Given the description of an element on the screen output the (x, y) to click on. 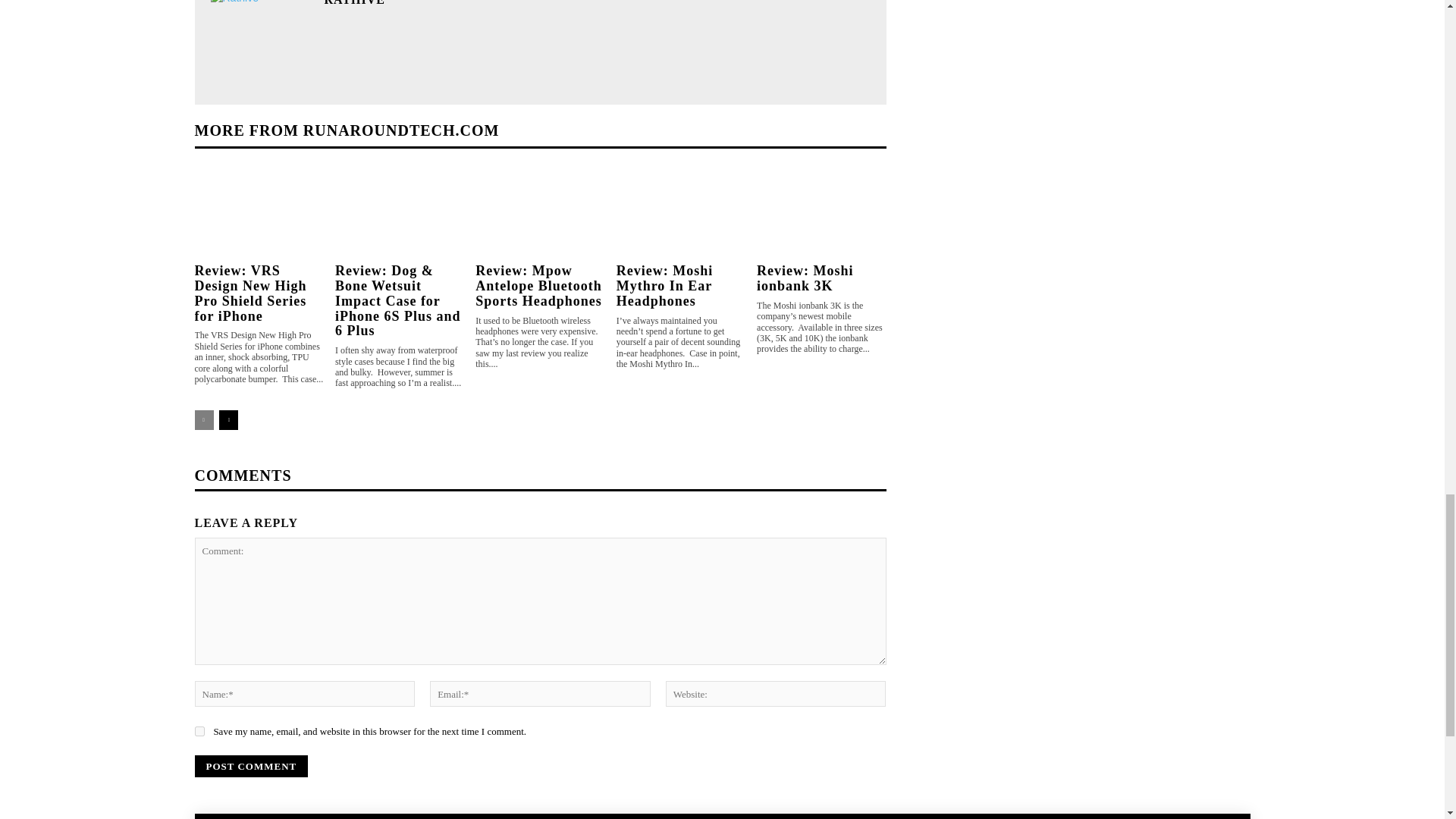
Post Comment (250, 766)
yes (198, 731)
